Given the description of an element on the screen output the (x, y) to click on. 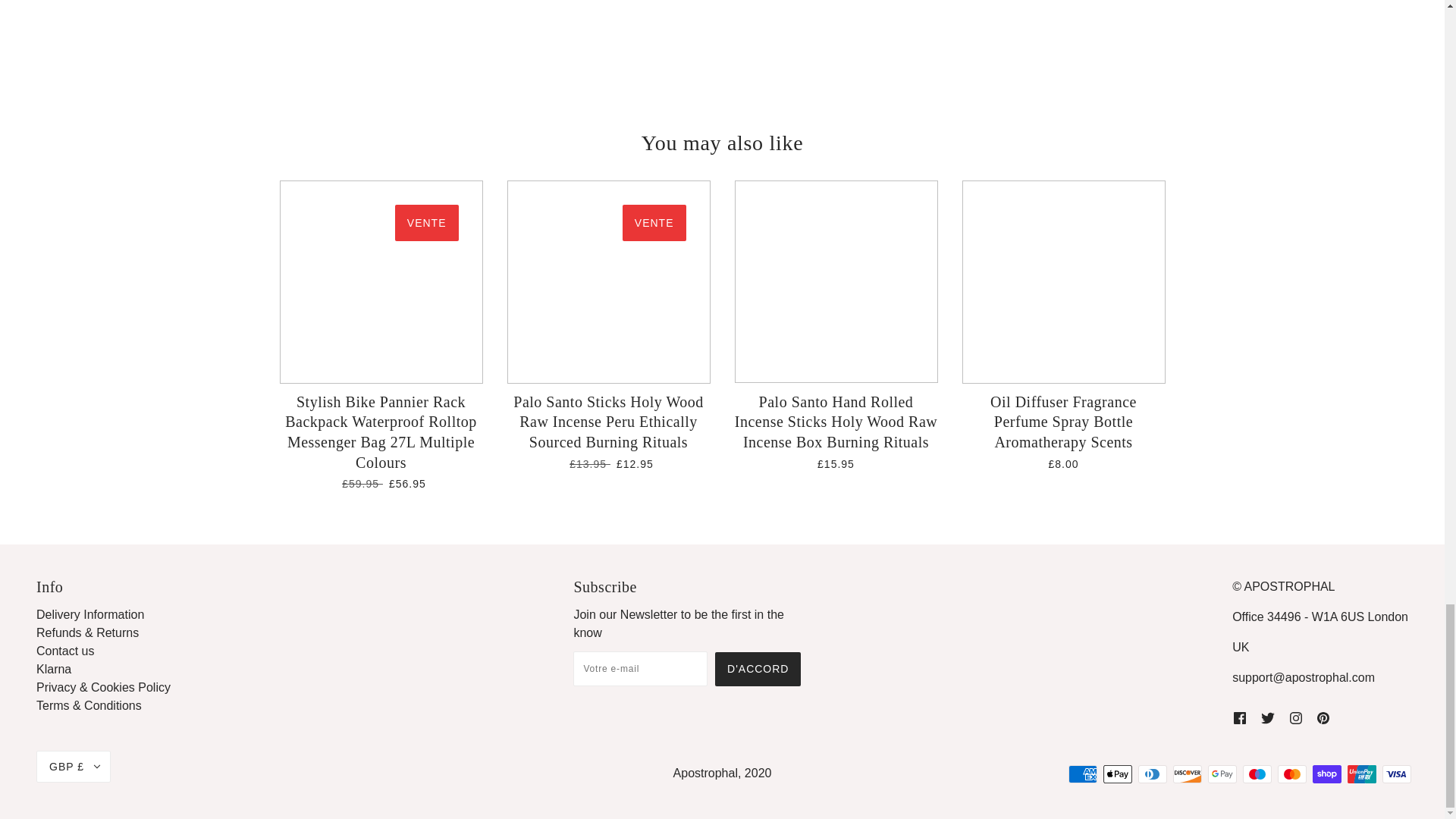
Contact us (65, 650)
Klarna (53, 668)
D'accord (757, 668)
Delivery Information (90, 614)
